Given the description of an element on the screen output the (x, y) to click on. 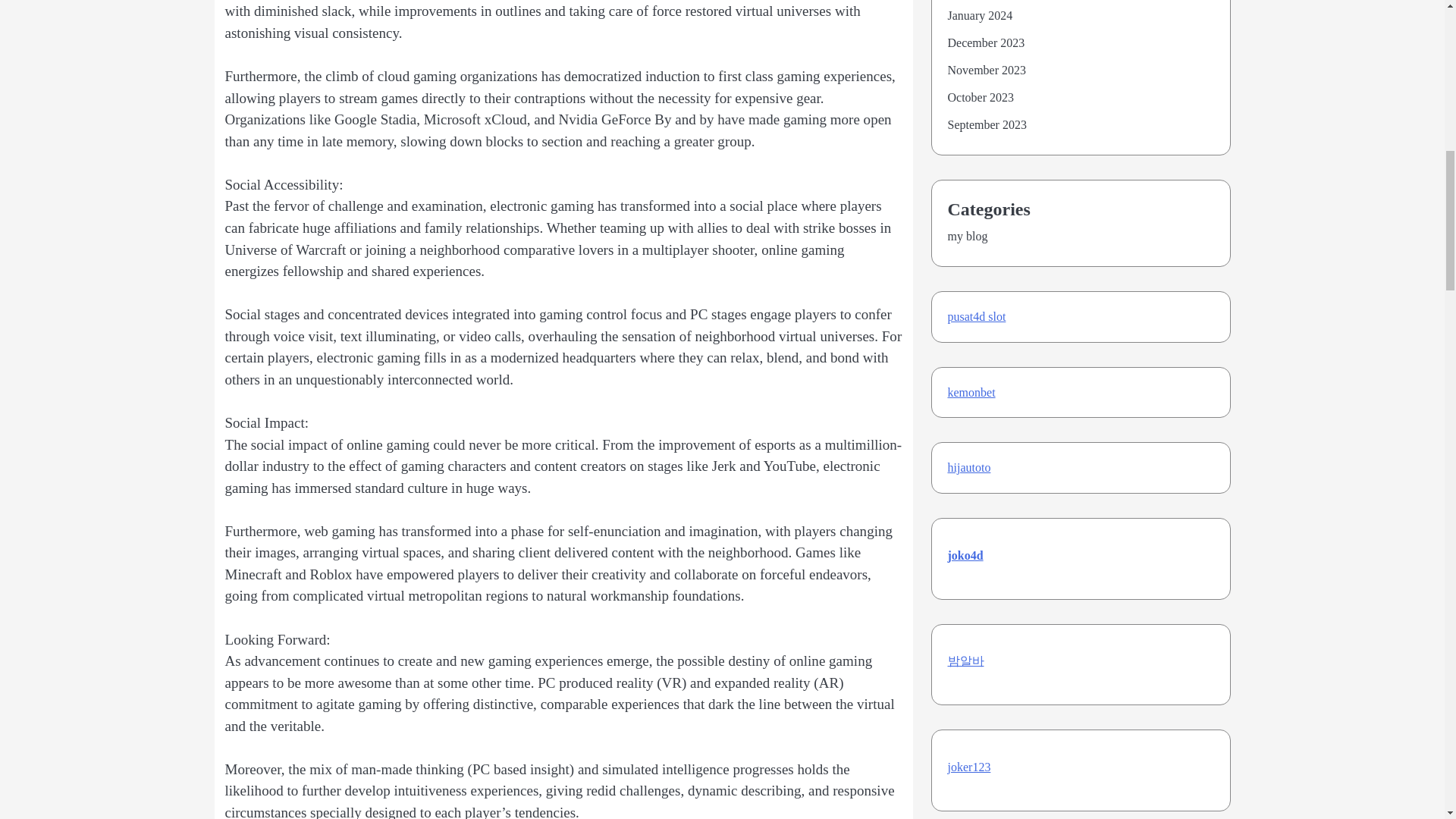
December 2023 (986, 42)
hijautoto (969, 467)
November 2023 (986, 69)
joko4d (965, 554)
pusat4d slot (976, 316)
kemonbet (971, 391)
my blog (967, 236)
pusat4d slot (976, 316)
joker123 (969, 766)
January 2024 (980, 15)
September 2023 (986, 124)
October 2023 (980, 97)
